Given the description of an element on the screen output the (x, y) to click on. 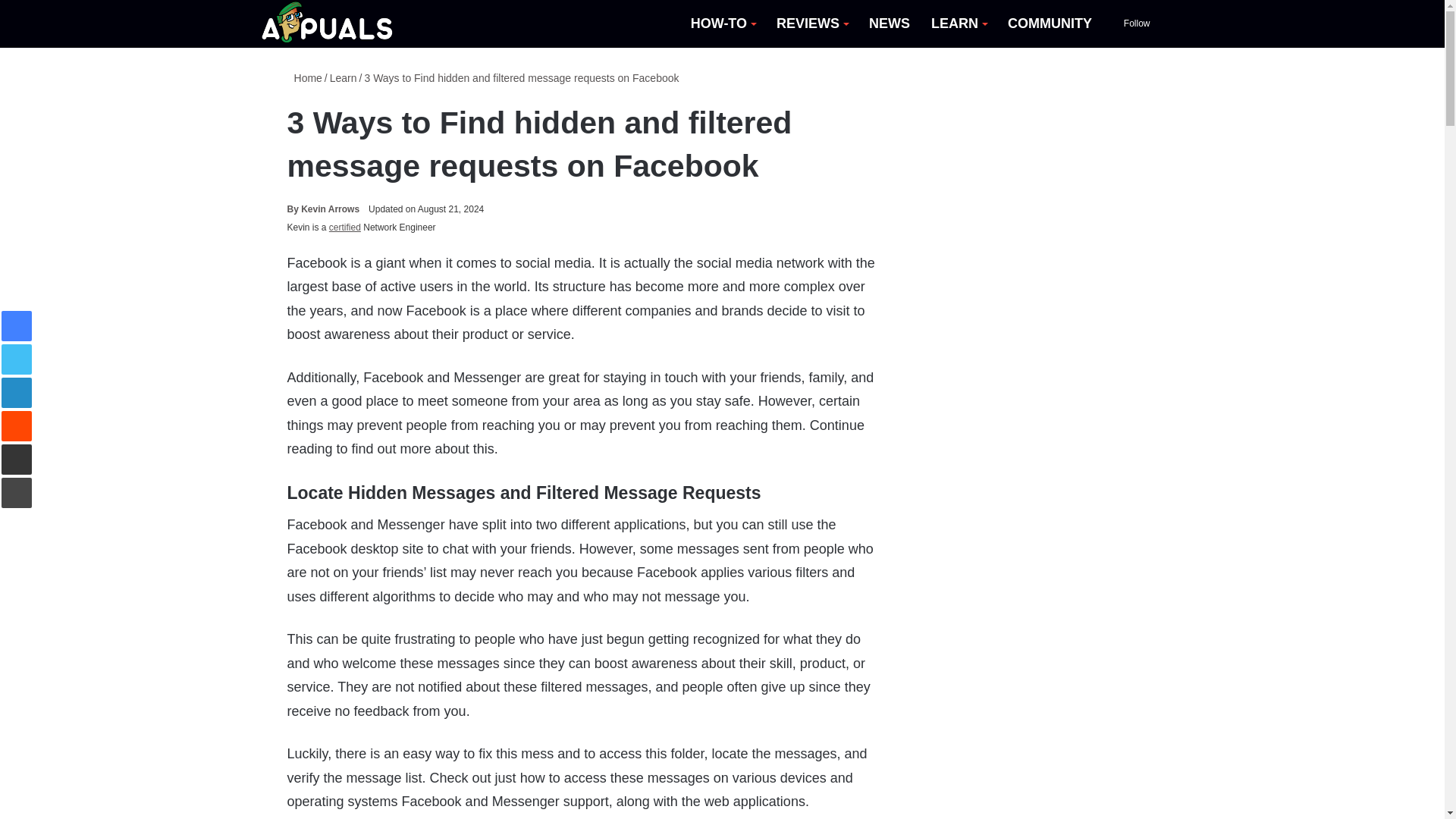
Kevin Arrows (322, 208)
Appuals (327, 23)
REVIEWS (812, 23)
HOW-TO (722, 23)
Share via Email (16, 459)
LEARN (958, 23)
Reddit (16, 426)
Twitter (16, 358)
COMMUNITY (1049, 23)
Facebook (16, 326)
